Given the description of an element on the screen output the (x, y) to click on. 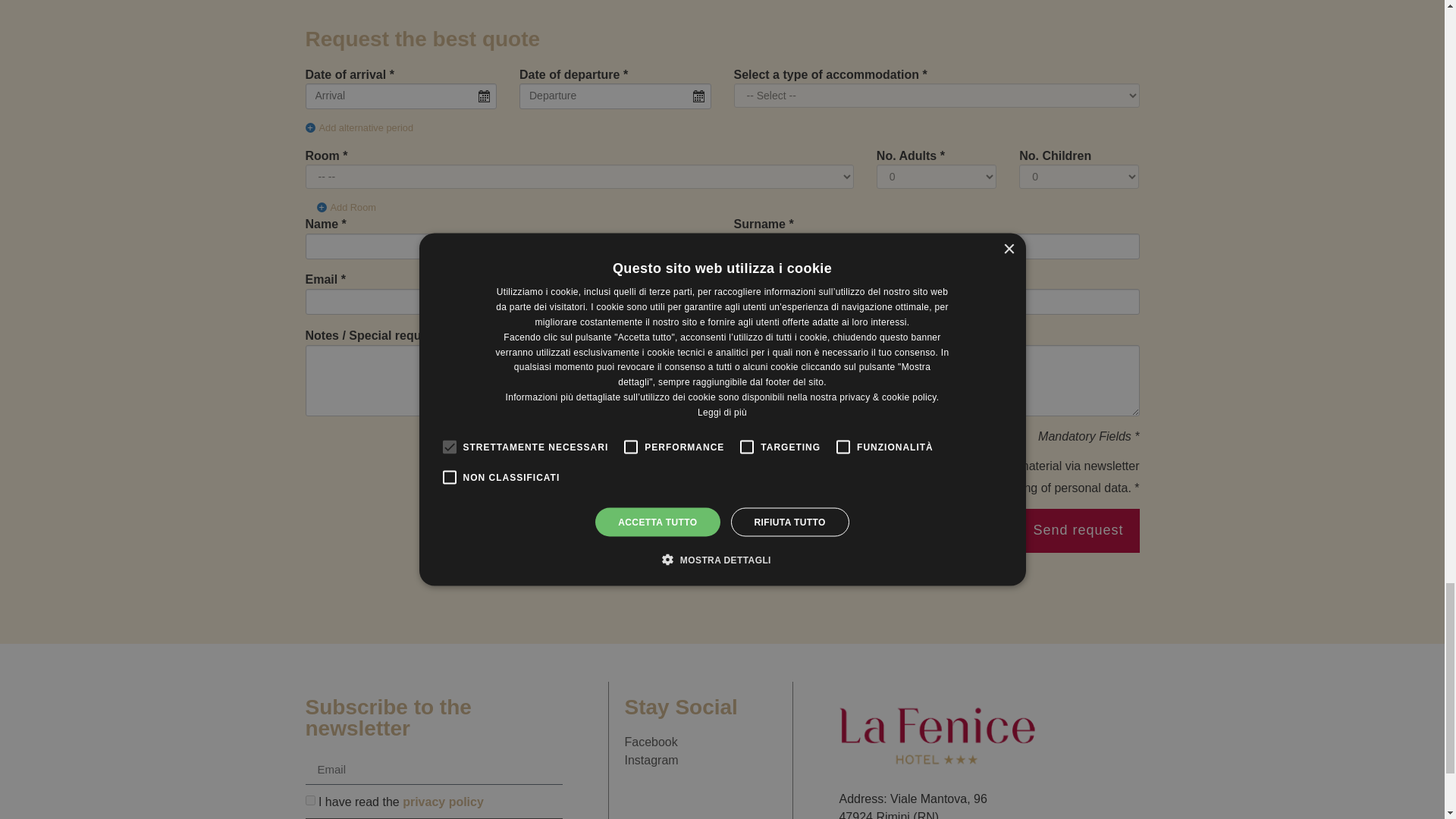
on (705, 490)
Room (321, 155)
on (737, 468)
on (309, 800)
